Given the description of an element on the screen output the (x, y) to click on. 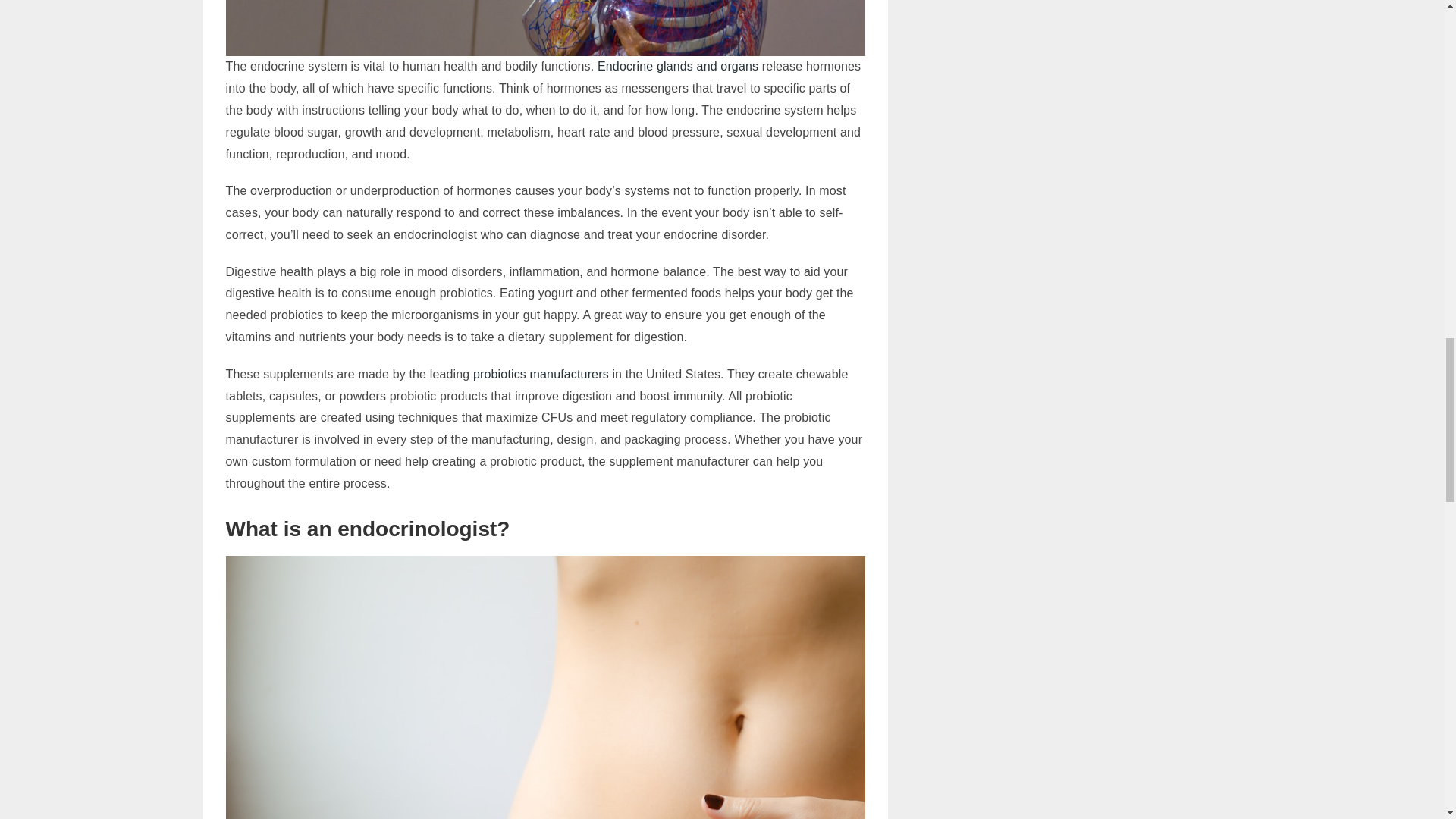
Endocrine glands and organs (677, 65)
probiotics manufacturers (540, 373)
